Given the description of an element on the screen output the (x, y) to click on. 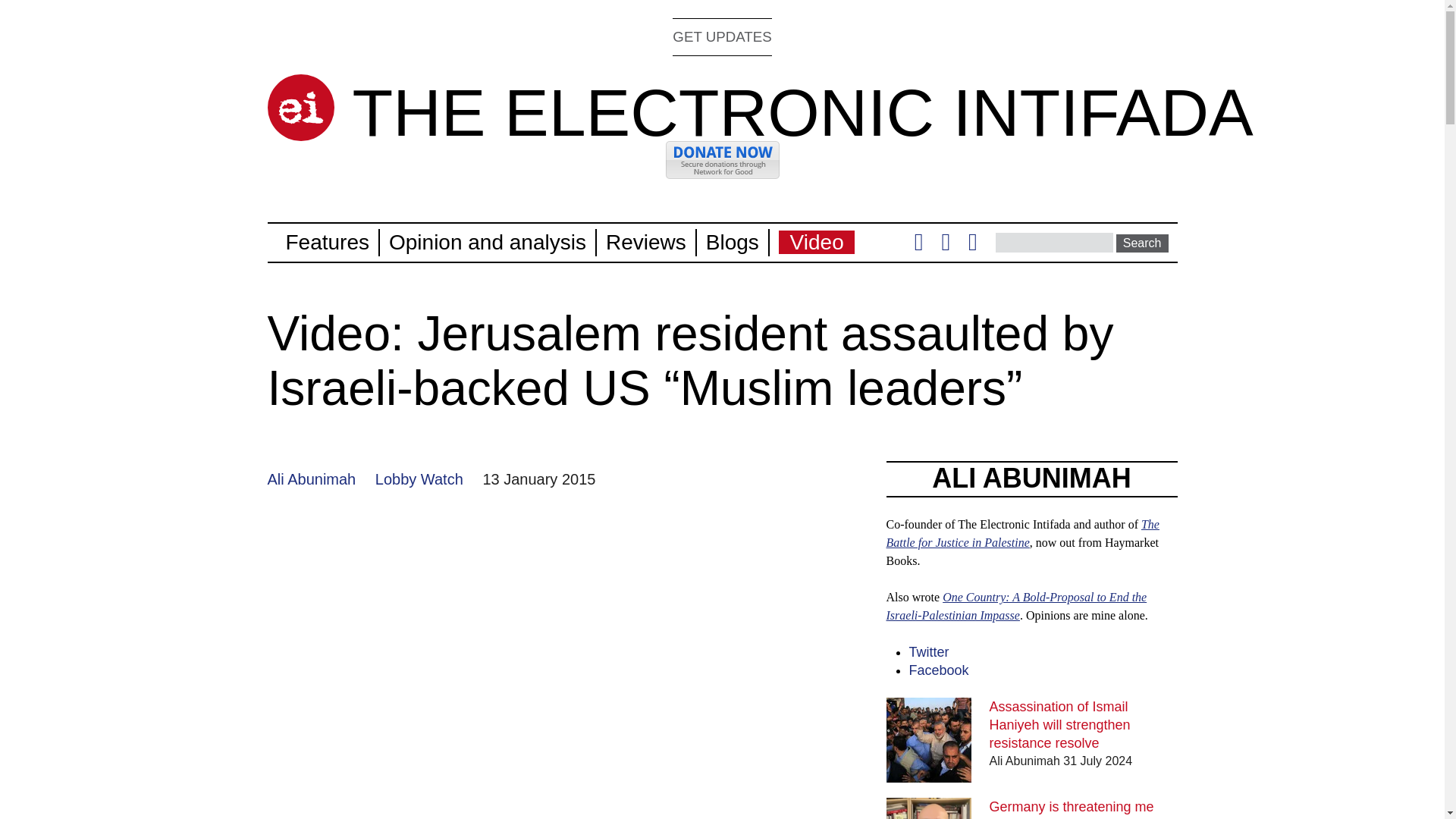
Home (802, 112)
Home (299, 107)
GET UPDATES (721, 37)
Ali Abunimah (310, 478)
Lobby Watch (419, 478)
THE ELECTRONIC INTIFADA (802, 112)
Search (1142, 243)
Enter the terms you wish to search for. (1054, 242)
